Given the description of an element on the screen output the (x, y) to click on. 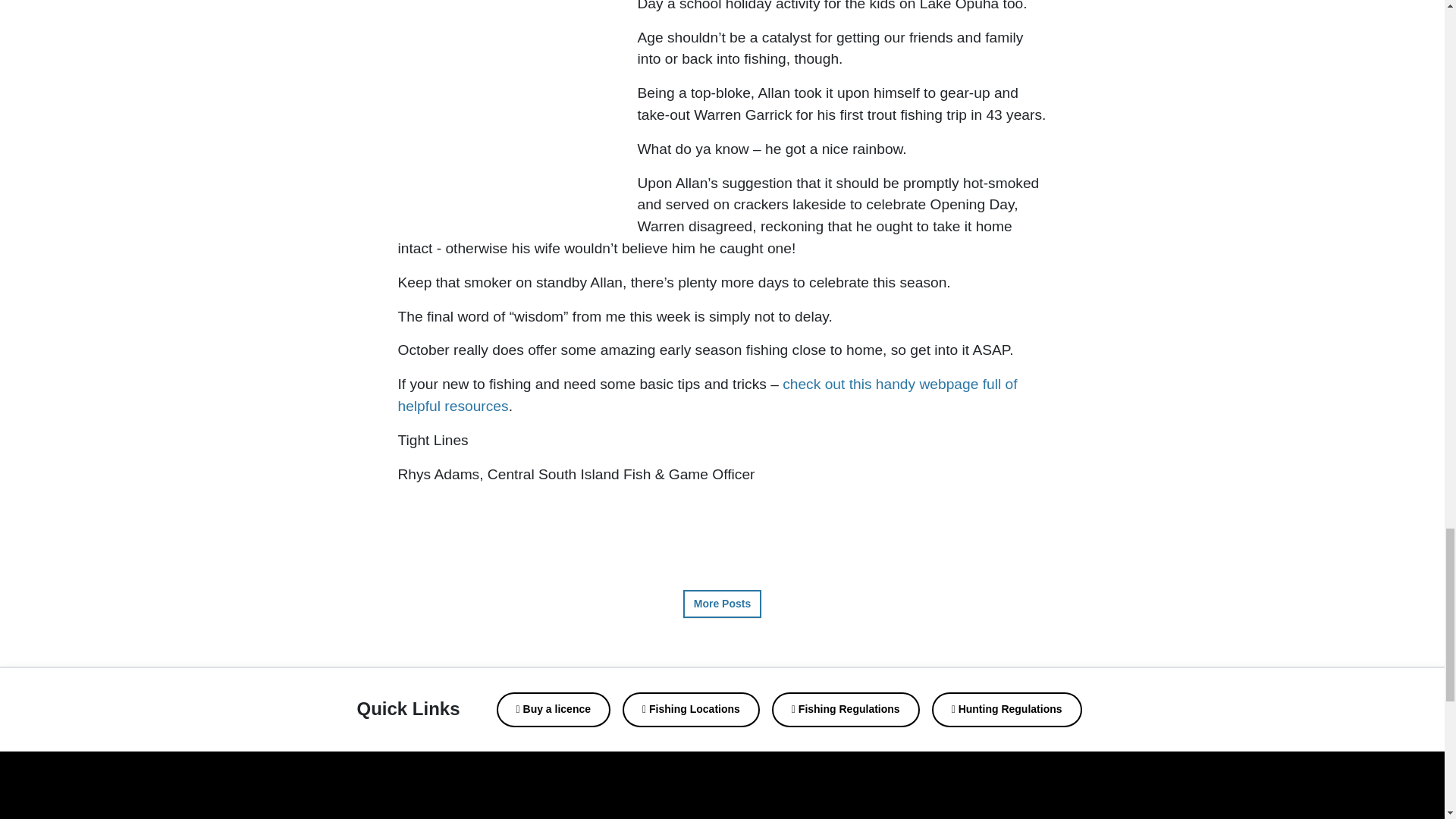
Fishing Locations (691, 709)
More Posts (721, 603)
Hunting Regulations (1006, 709)
check out this handy webpage full of helpful resources (706, 394)
Buy a licence (553, 709)
Fishing Regulations (845, 709)
